Given the description of an element on the screen output the (x, y) to click on. 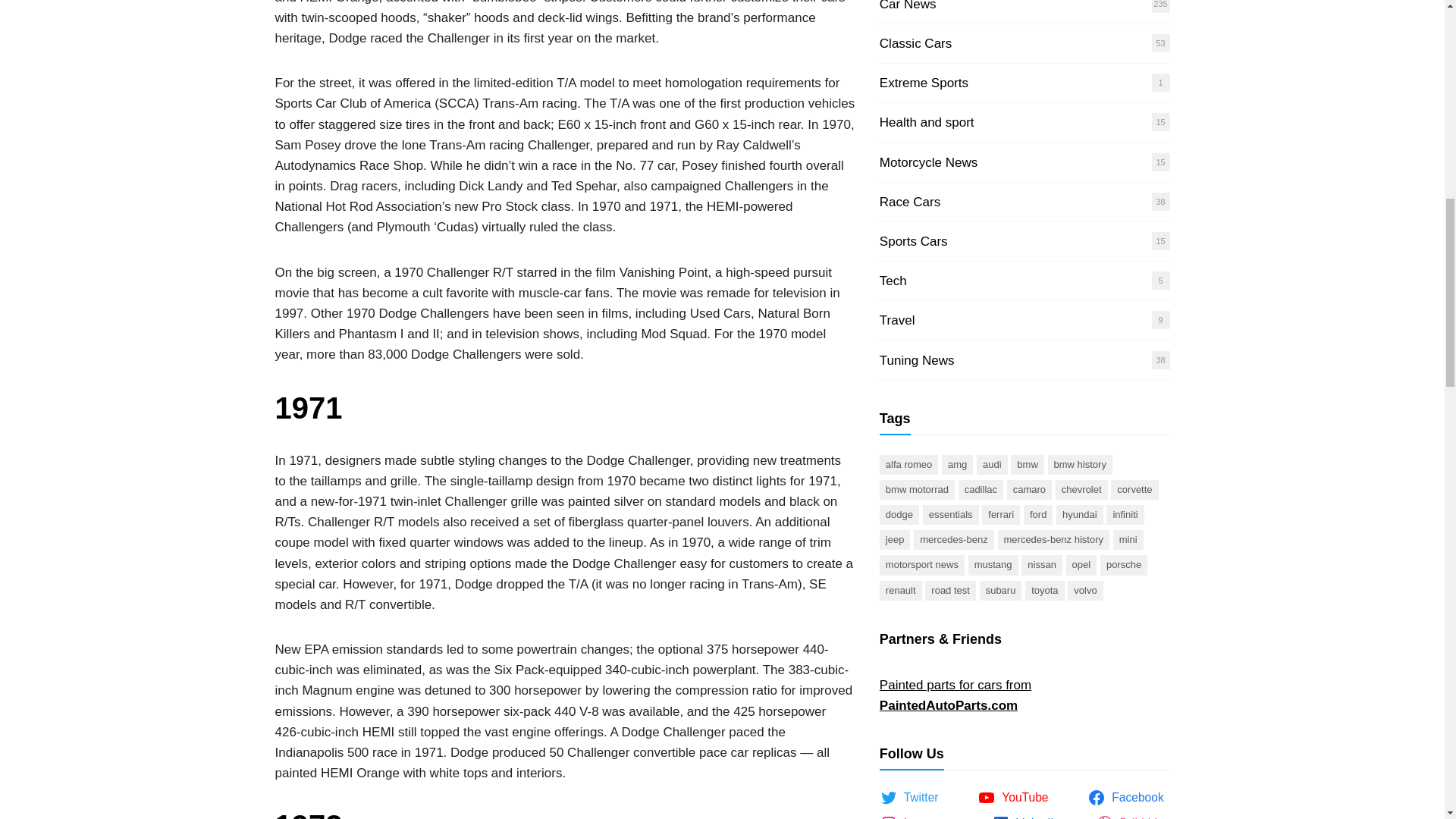
Health and sport (926, 122)
Car News (907, 5)
Motorcycle News (927, 162)
Classic Cars (915, 43)
Extreme Sports (923, 83)
